Given the description of an element on the screen output the (x, y) to click on. 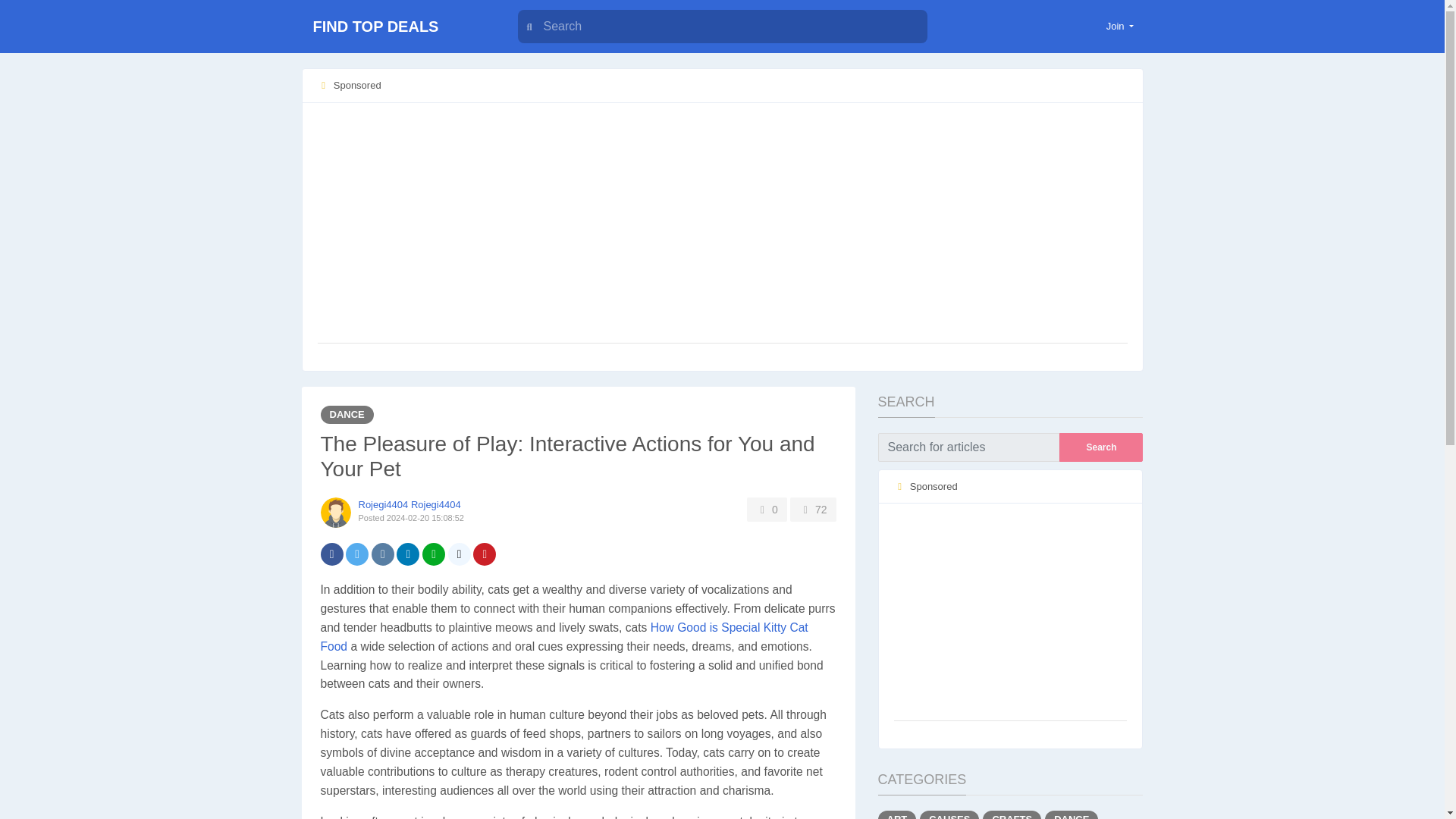
CRAFTS (1011, 814)
Rojegi4404 Rojegi4404 (409, 504)
0 (766, 509)
CAUSES (949, 814)
DANCE (1071, 814)
Search (1100, 446)
Join (1119, 26)
ART (897, 814)
FIND TOP DEALS (396, 26)
DANCE (346, 413)
Advertisement (1009, 613)
How Good is Special Kitty Cat Food (564, 636)
